Given the description of an element on the screen output the (x, y) to click on. 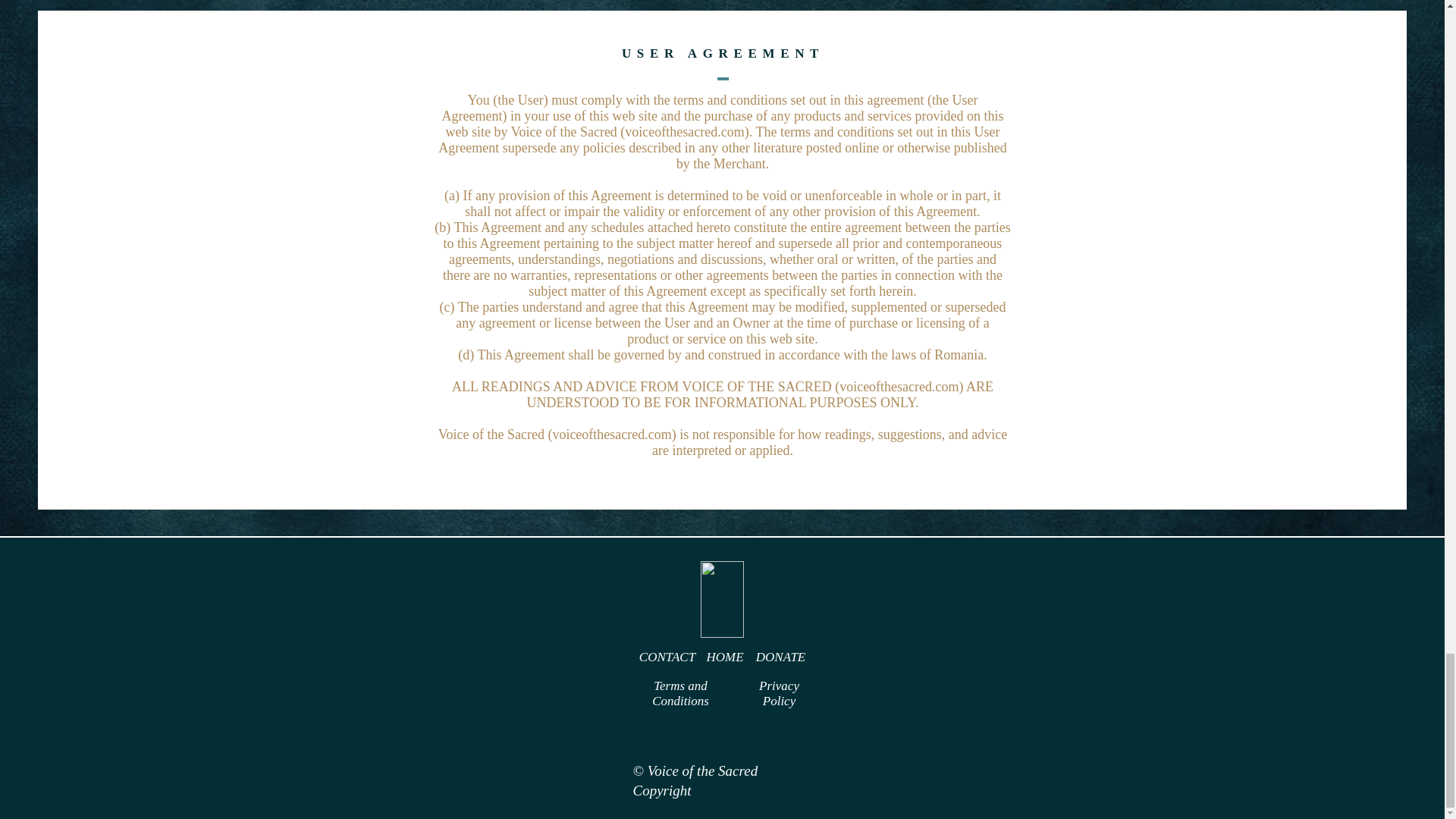
CONTACT (667, 657)
Terms and Conditions (680, 693)
DONATE (780, 657)
Privacy Policy (778, 693)
HOME (724, 657)
